Given the description of an element on the screen output the (x, y) to click on. 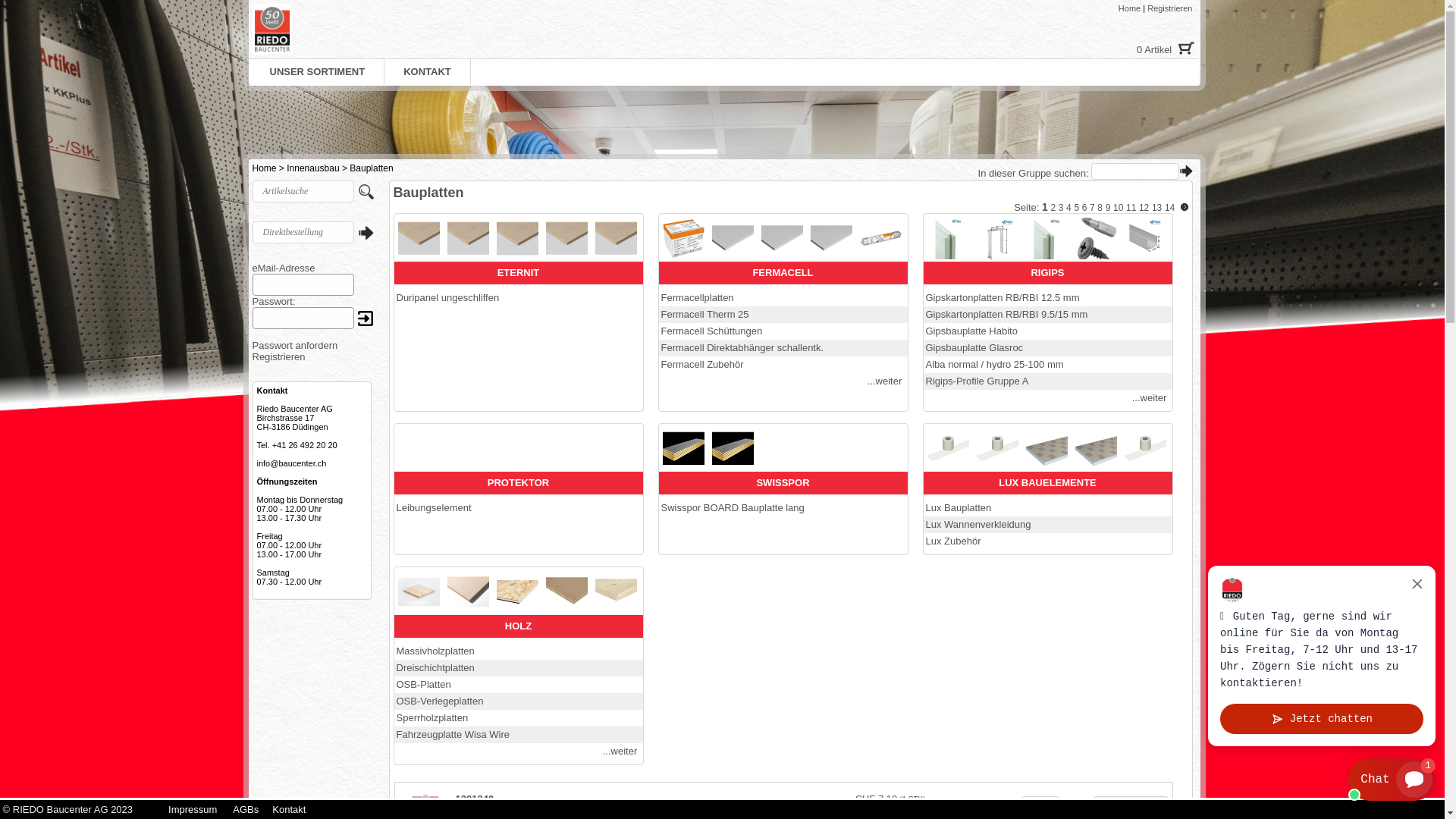
Innenausbau Element type: text (312, 168)
Alba normal / hydro 25-100 mm Element type: text (994, 364)
9 Element type: text (1107, 207)
3 Element type: text (1060, 207)
Kontakt Element type: text (288, 809)
SWISSPOR
Swisspor BOARD Bauplatte lang Element type: text (782, 469)
...weiter Element type: text (1149, 397)
Dreischichtplatten Element type: text (434, 667)
AGBs Element type: text (245, 809)
Smartsupp widget popup Element type: hover (1321, 655)
Lux Wannenverkleidung Element type: text (977, 524)
info@baucenter.ch Element type: text (291, 462)
7 Element type: text (1092, 207)
Lux Bauplatten Element type: text (958, 507)
4 Element type: text (1068, 207)
Bestellen Element type: text (1130, 804)
0 Artikel   Element type: text (1120, 48)
KONTAKT Element type: text (427, 72)
Registrieren Element type: text (1169, 7)
Leibungselement Element type: text (432, 507)
Impressum Element type: text (192, 809)
Gipsbauplatte Habito Element type: text (970, 330)
13 Element type: text (1156, 207)
Registrieren Element type: text (277, 356)
Rigips-Profile Gruppe A Element type: text (976, 380)
Swisspor BOARD Bauplatte lang Element type: text (732, 507)
Gipsbauplatte Glasroc Element type: text (973, 347)
...weiter Element type: text (884, 380)
12 Element type: text (1143, 207)
Fermacell Therm 25 Element type: text (705, 314)
11 Element type: text (1130, 207)
ETERNIT
Duripanel ungeschliffen Element type: text (518, 259)
SWISSPOR
Swisspor BOARD Bauplatte lang Element type: text (783, 489)
Passwort anfordern Element type: text (294, 345)
ETERNIT
Duripanel ungeschliffen Element type: text (517, 312)
2 Element type: text (1052, 207)
Duripanel ungeschliffen Element type: text (446, 297)
1301240 Element type: text (474, 798)
10 Element type: text (1118, 207)
PROTEKTOR
Leibungselement Element type: text (517, 489)
Smartsupp widget button Element type: hover (1391, 779)
14 Element type: text (1169, 207)
...weiter Element type: text (619, 750)
Home Element type: text (1129, 7)
Home Element type: text (263, 168)
Fermacellplatten Element type: text (697, 297)
Gipskartonplatten RB/RBI 12.5 mm Element type: text (1002, 297)
Massivholzplatten Element type: text (434, 650)
Bauplatten Element type: text (370, 168)
5 Element type: text (1076, 207)
Sperrholzplatten Element type: text (431, 717)
OSB-Platten Element type: text (422, 684)
6 Element type: text (1084, 207)
Gipskartonplatten RB/RBI 9.5/15 mm Element type: text (1006, 314)
8 Element type: text (1099, 207)
OSB-Verlegeplatten Element type: text (439, 700)
Fahrzeugplatte Wisa Wire Element type: text (452, 734)
PROTEKTOR
Leibungselement Element type: text (518, 469)
